Given the description of an element on the screen output the (x, y) to click on. 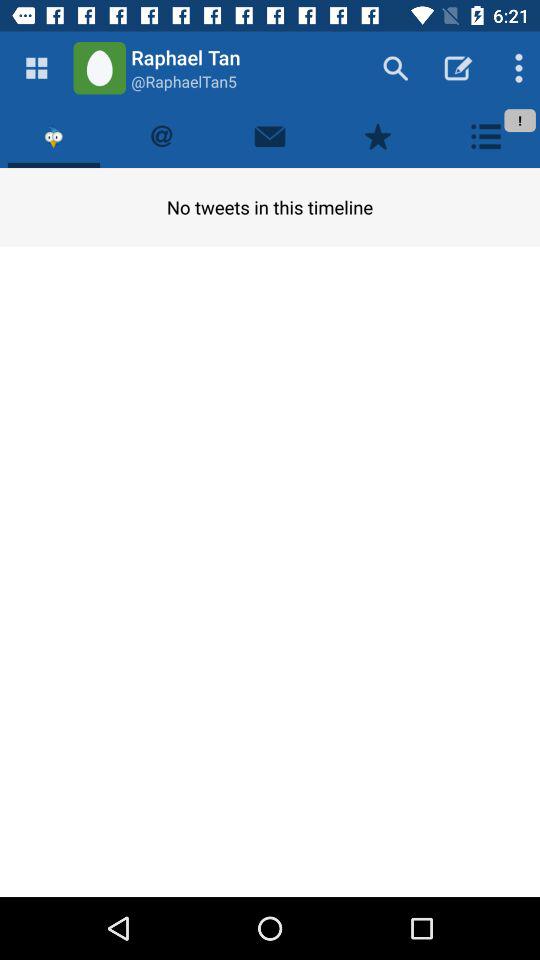
email (270, 136)
